Given the description of an element on the screen output the (x, y) to click on. 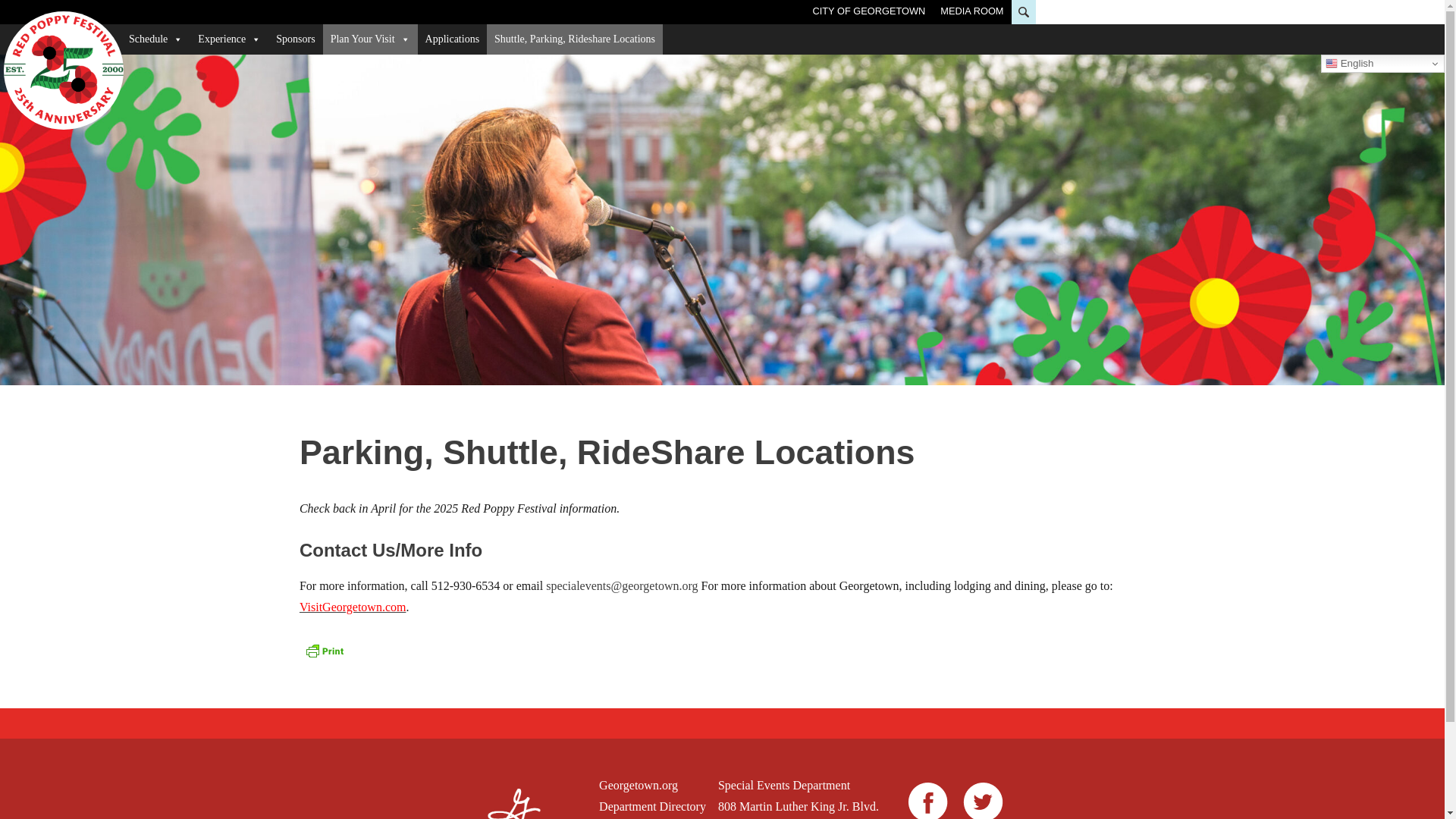
Plan Your Visit (370, 39)
Sponsors (294, 39)
Department Directory (652, 806)
Shuttle, Parking, Rideshare Locations (574, 39)
Applications (452, 39)
MEDIA ROOM (971, 10)
Schedule (155, 39)
Georgetown.org (652, 785)
Experience (228, 39)
CITY OF GEORGETOWN (868, 10)
